Given the description of an element on the screen output the (x, y) to click on. 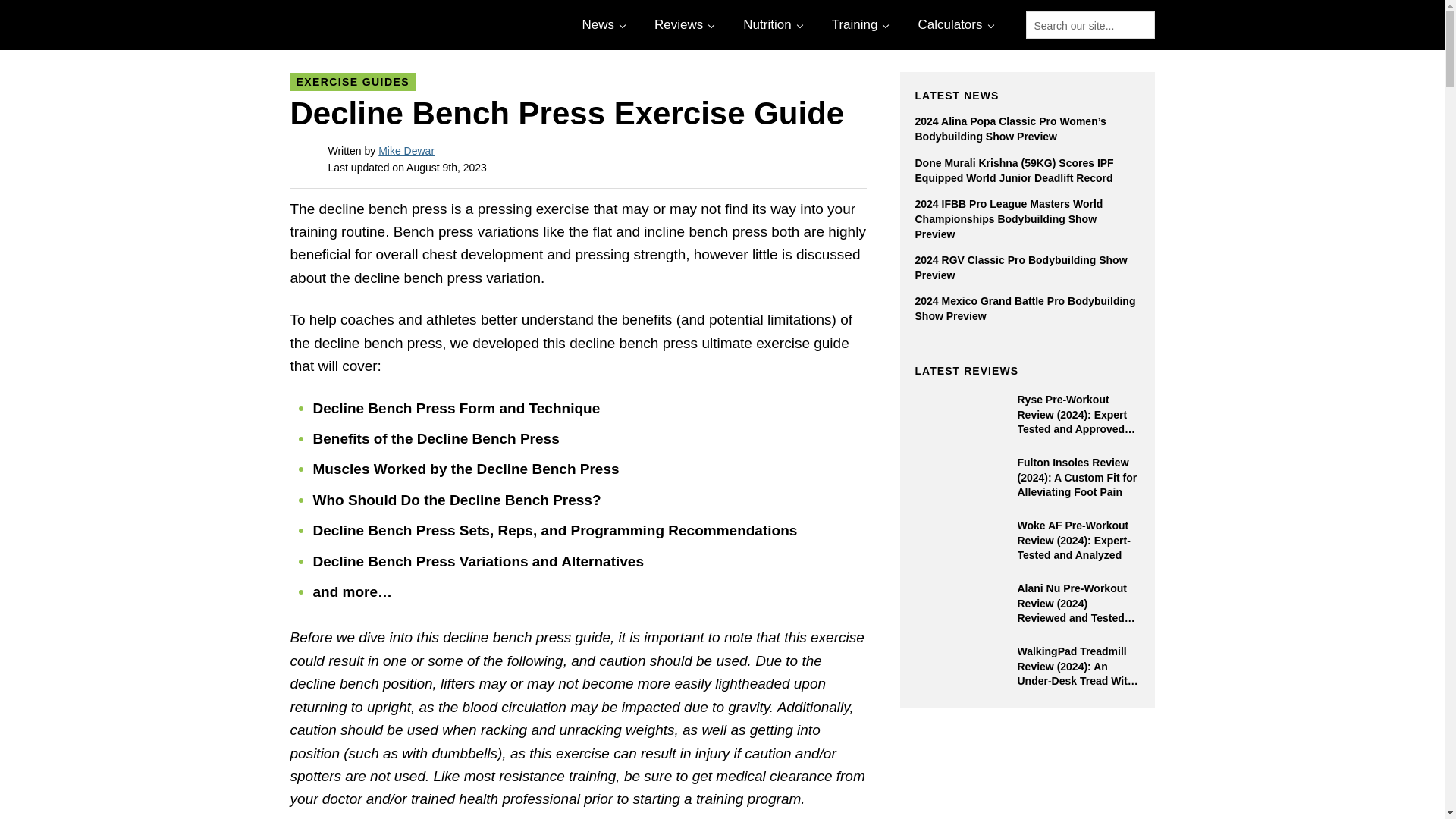
News (602, 24)
Reviews (682, 24)
